Given the description of an element on the screen output the (x, y) to click on. 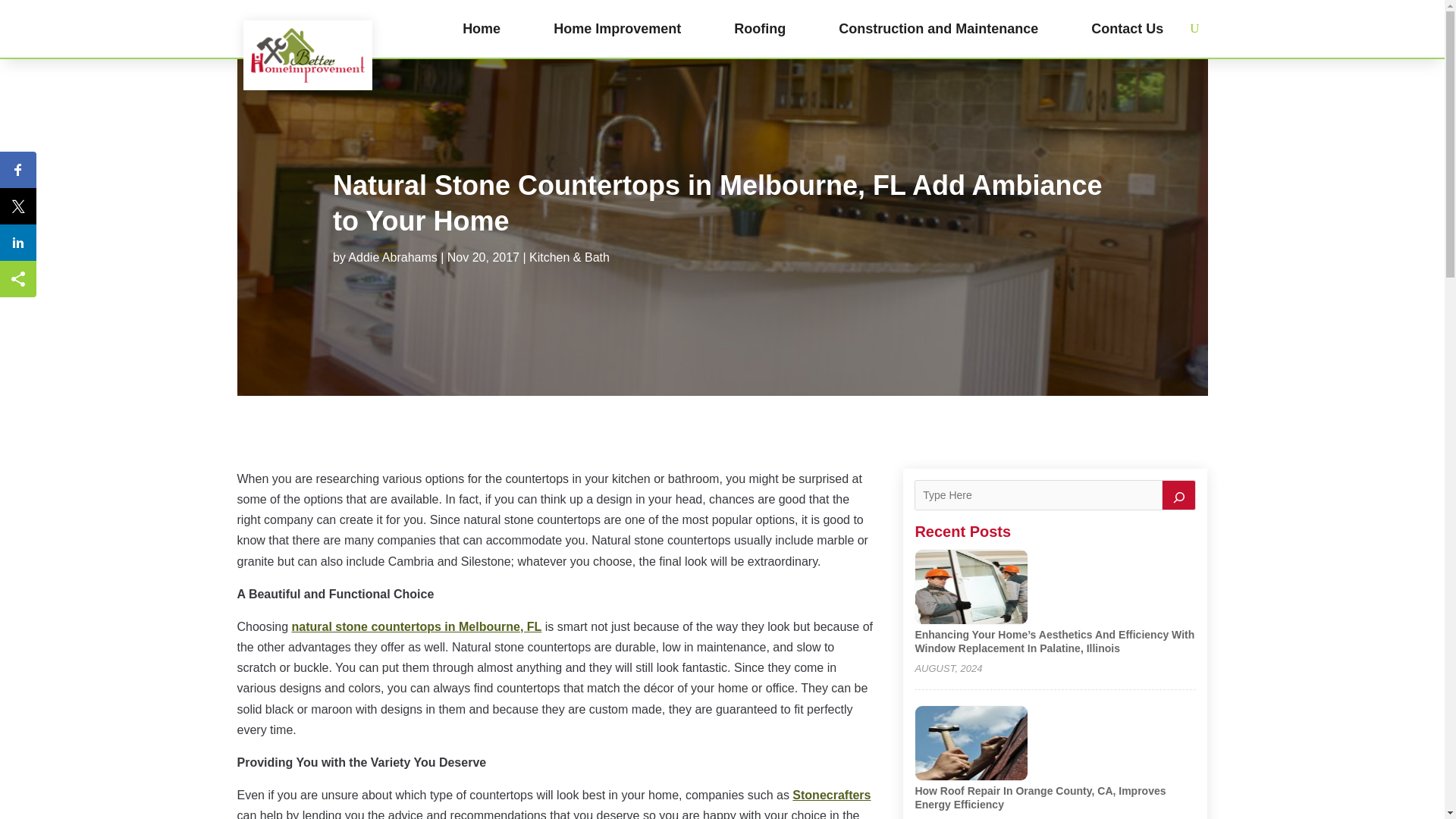
natural stone countertops in Melbourne, FL (416, 626)
Addie Abrahams (391, 256)
Stonecrafters (831, 794)
Posts by Addie Abrahams (391, 256)
Contact Us (1126, 28)
Roofing (759, 28)
Construction and Maintenance (938, 28)
Home Improvement (617, 28)
